Given the description of an element on the screen output the (x, y) to click on. 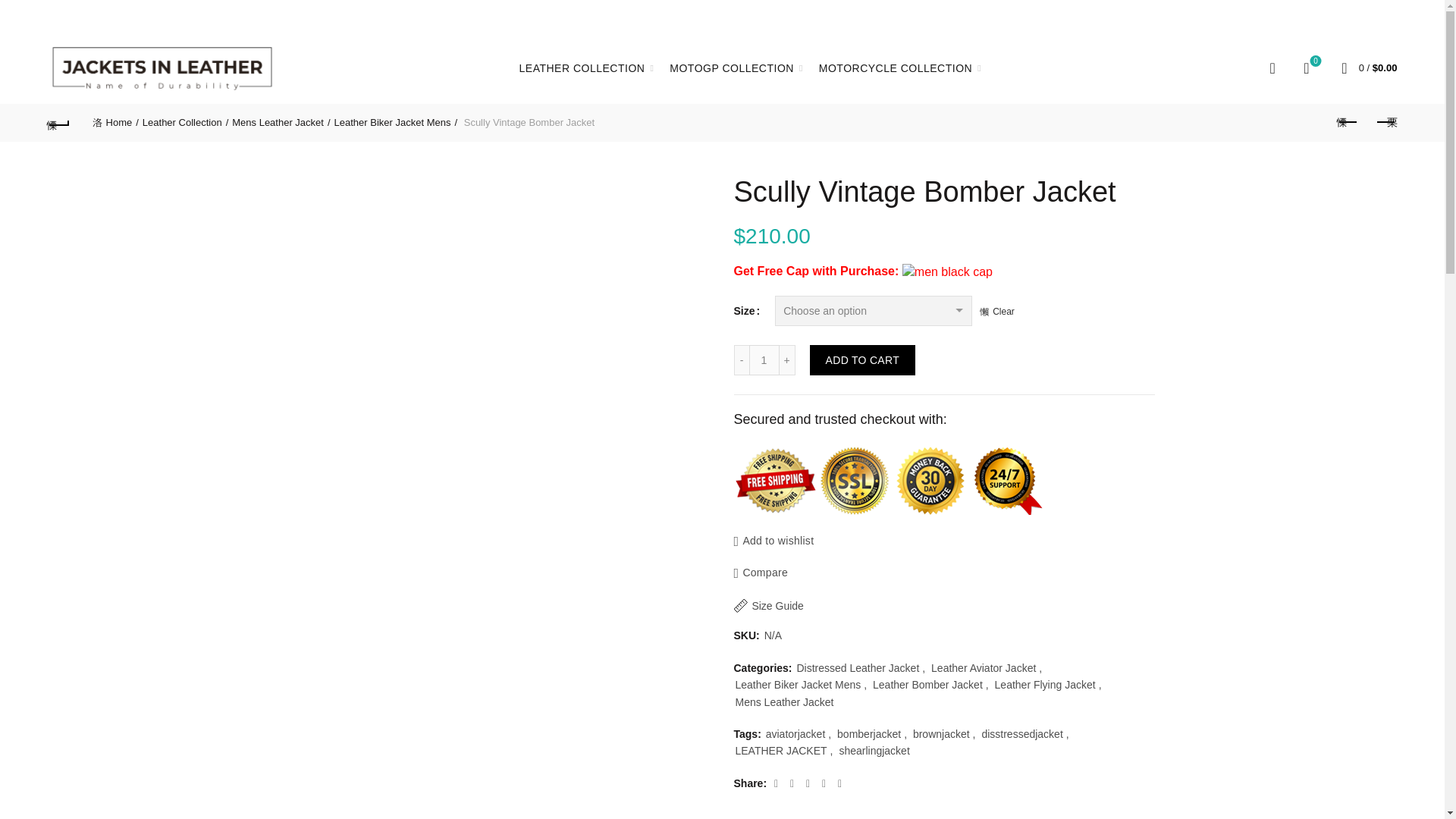
Qty (763, 359)
1 (763, 359)
